Given the description of an element on the screen output the (x, y) to click on. 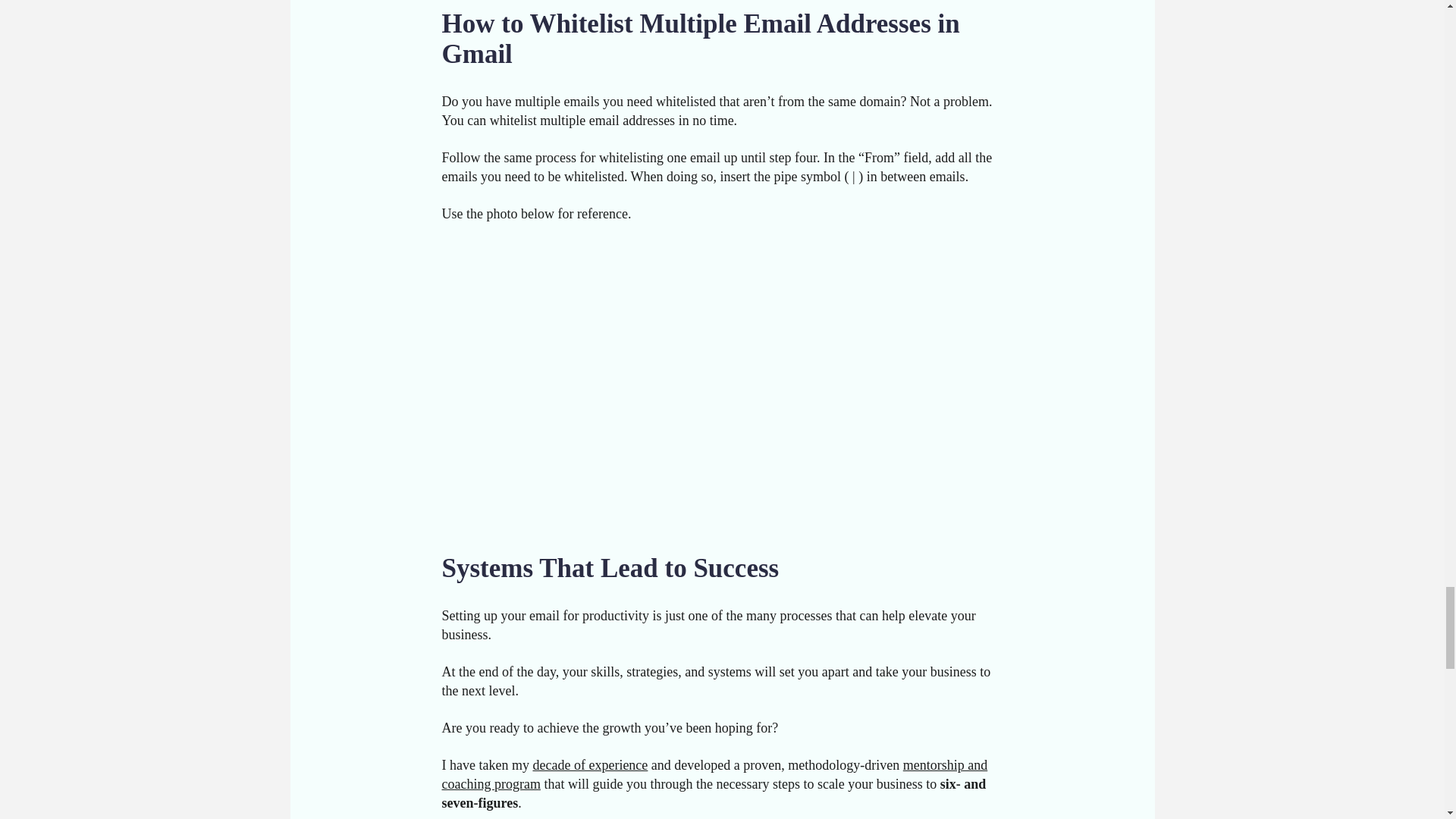
decade of experience (589, 765)
mentorship and coaching program (714, 774)
